Given the description of an element on the screen output the (x, y) to click on. 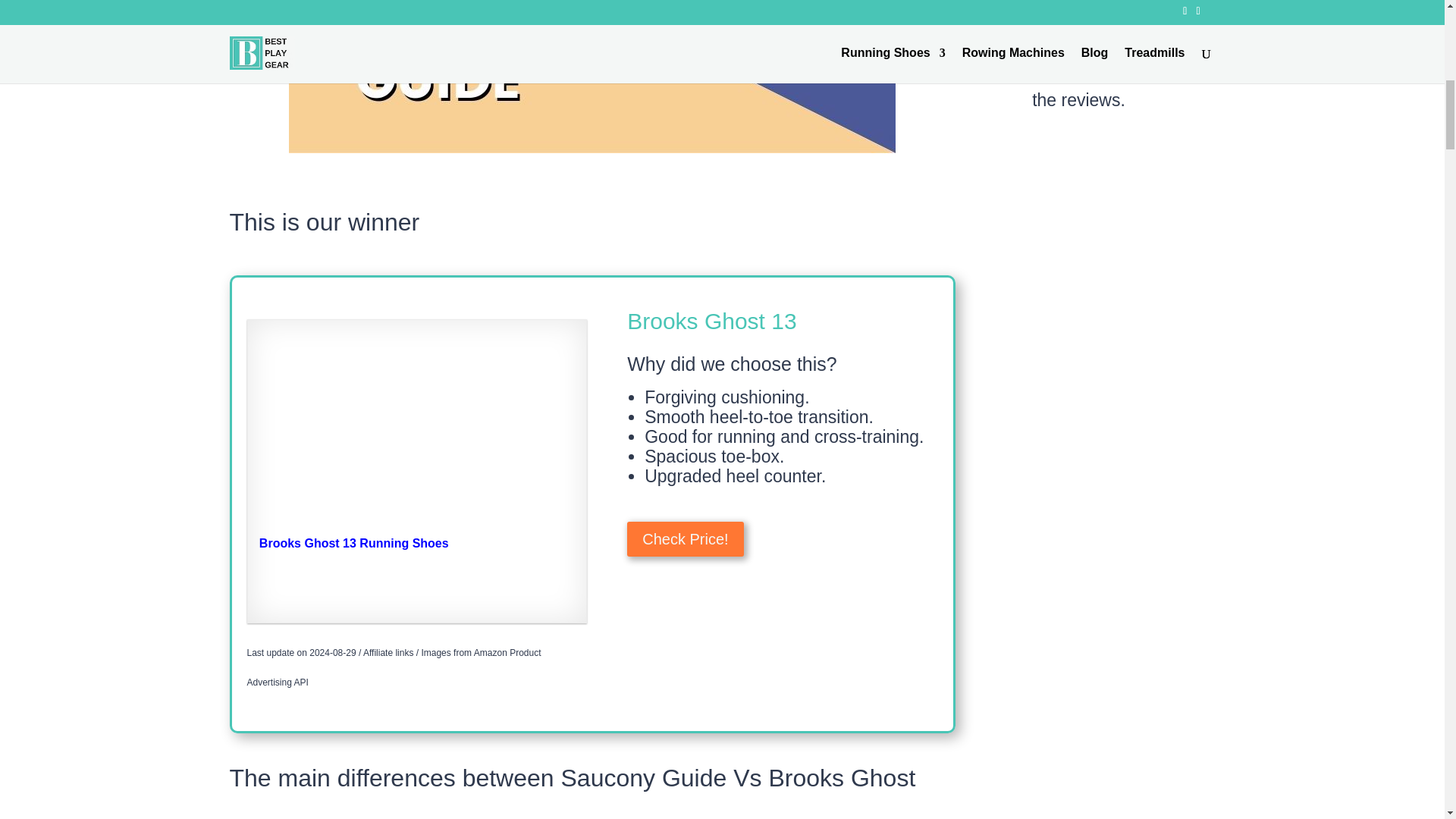
Brooks Ghost 13 Running Shoes (417, 551)
Check Price! (684, 538)
Brooks Ghost 13 Running Shoes (417, 551)
Saucony Guide Vs Brooks Ghost HI-min (591, 76)
Brooks Ghost 13 (711, 320)
Brooks Ghost 13 Running Shoes (416, 433)
